Given the description of an element on the screen output the (x, y) to click on. 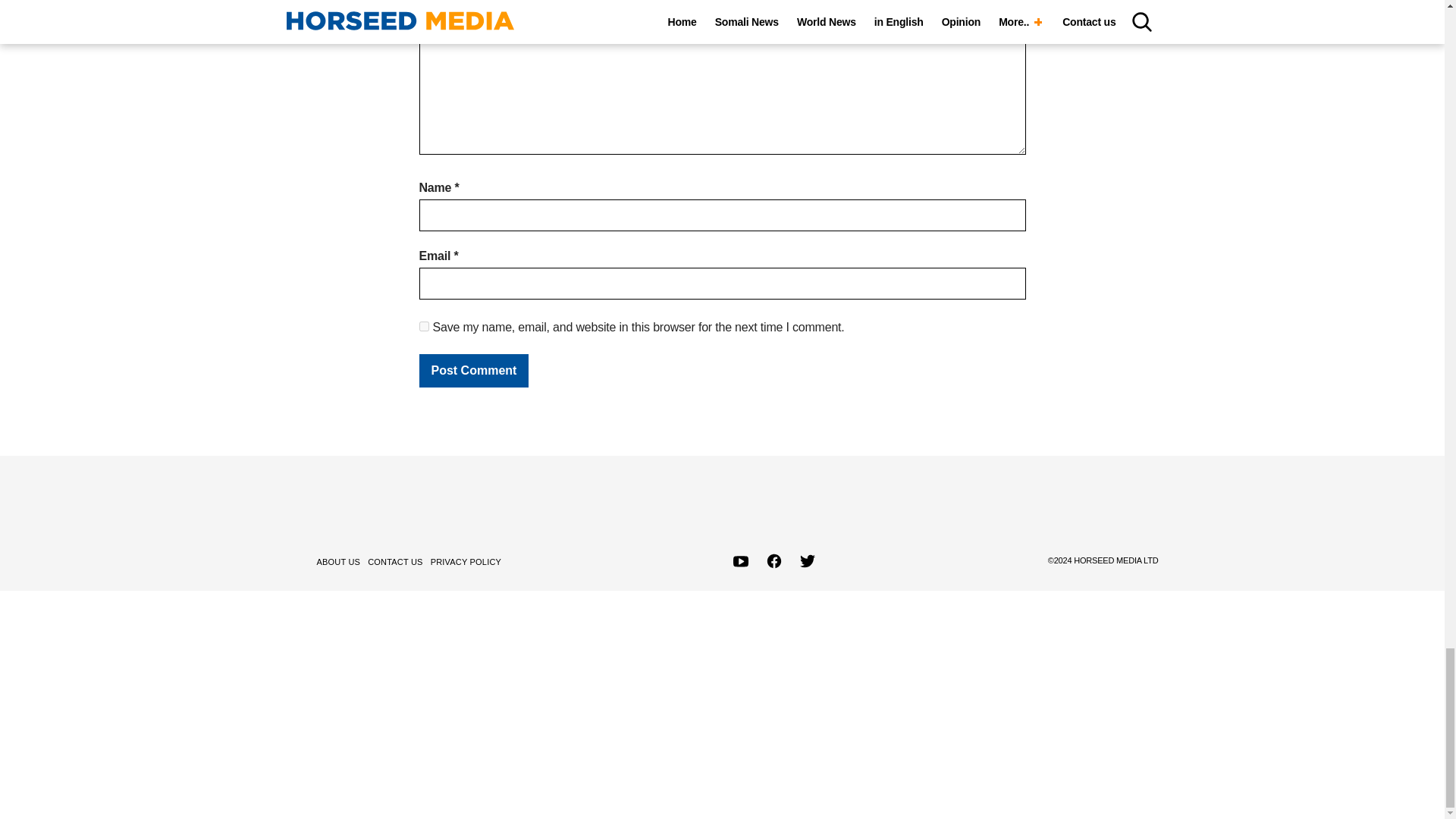
Post Comment (473, 370)
yes (423, 326)
